Given the description of an element on the screen output the (x, y) to click on. 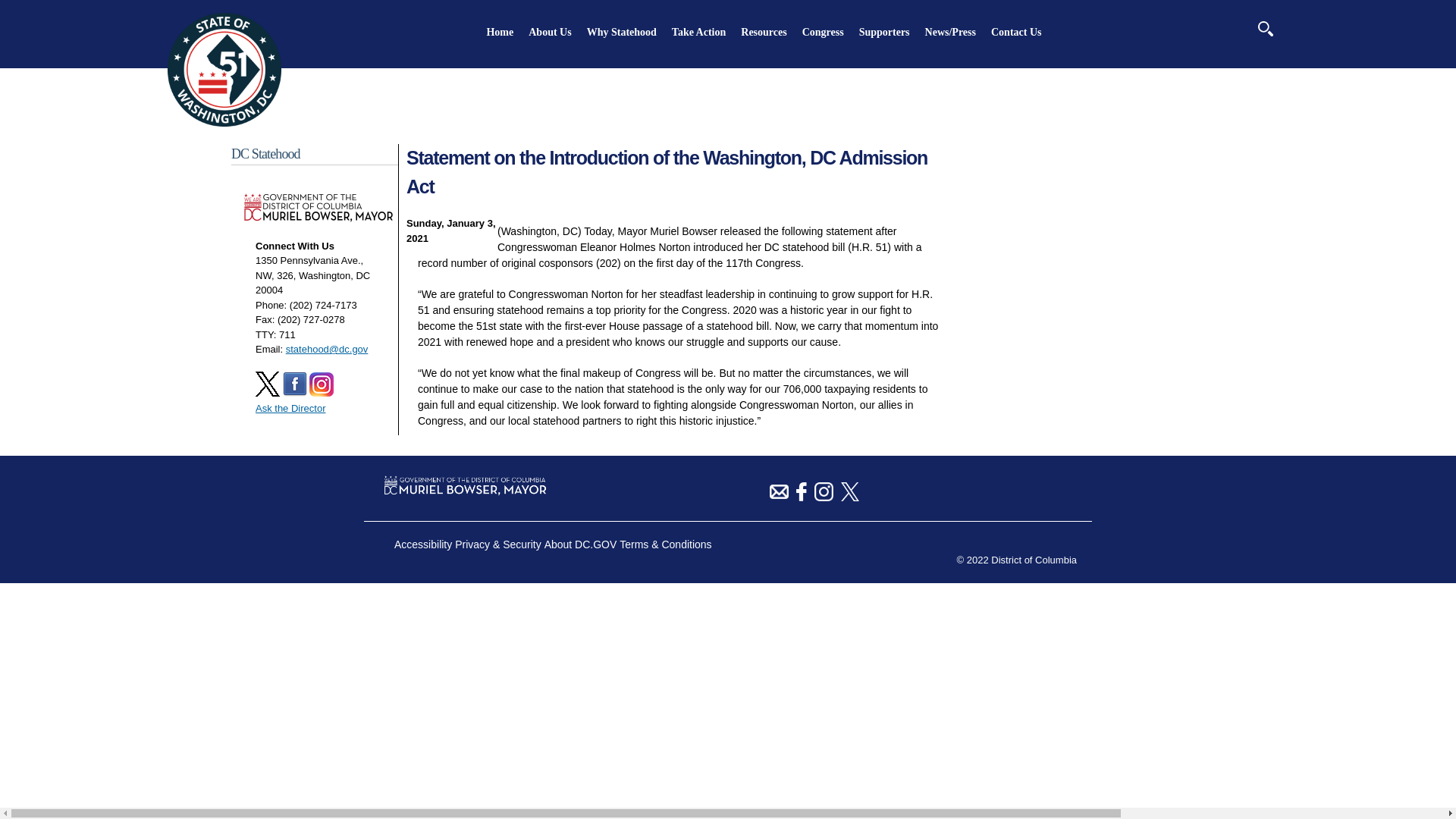
Supporters (884, 31)
Why Statehood (621, 31)
Mayor logo (224, 69)
Take Action (698, 31)
Home (499, 31)
Congress (823, 31)
Contact Us (1016, 31)
Resources (763, 31)
Statehood Home (224, 122)
About Us (549, 31)
Why Statehood (621, 31)
Take Action (698, 31)
Resources (763, 31)
Introduction (549, 31)
